Given the description of an element on the screen output the (x, y) to click on. 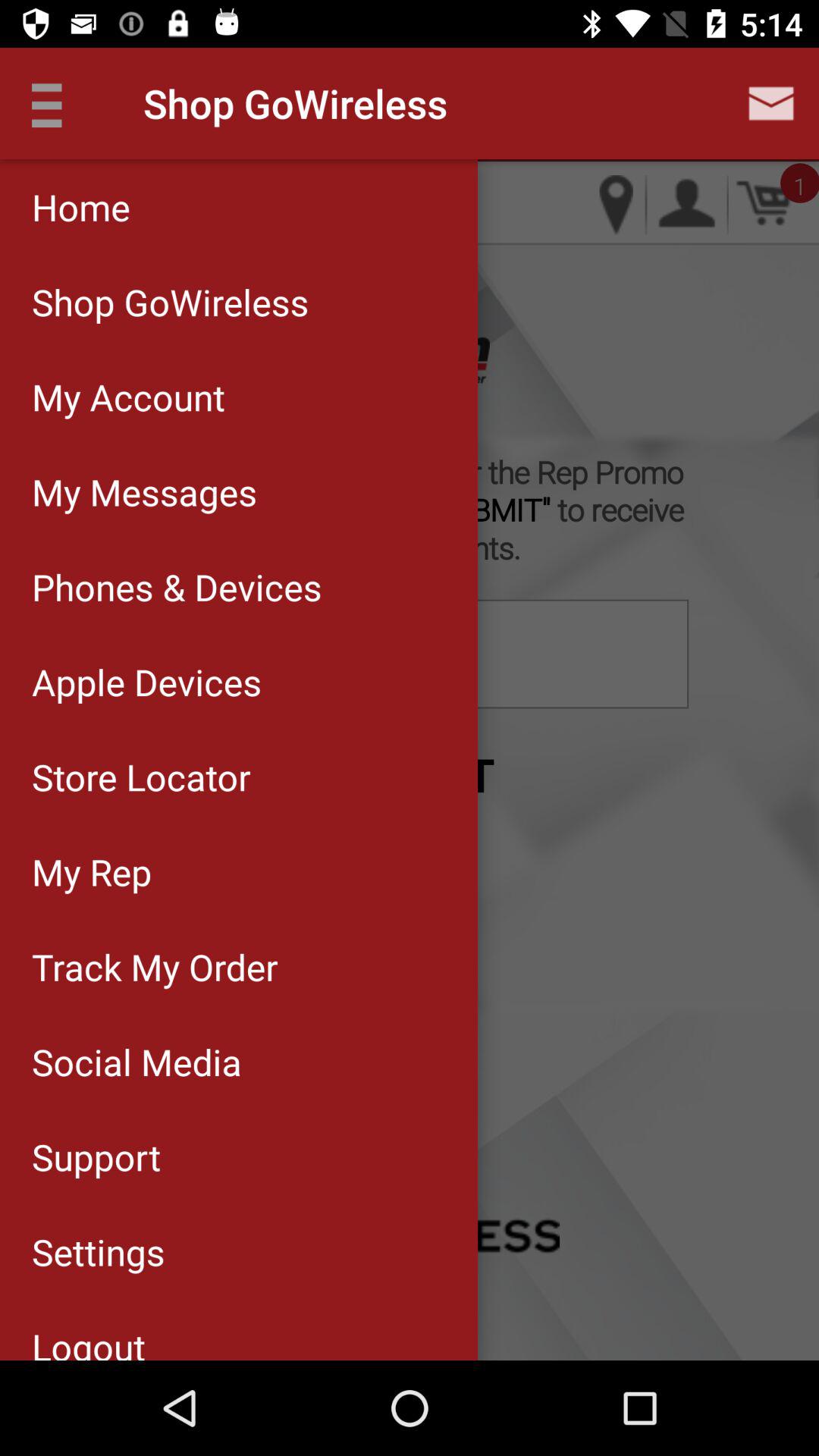
launch the my account item (238, 396)
